Given the description of an element on the screen output the (x, y) to click on. 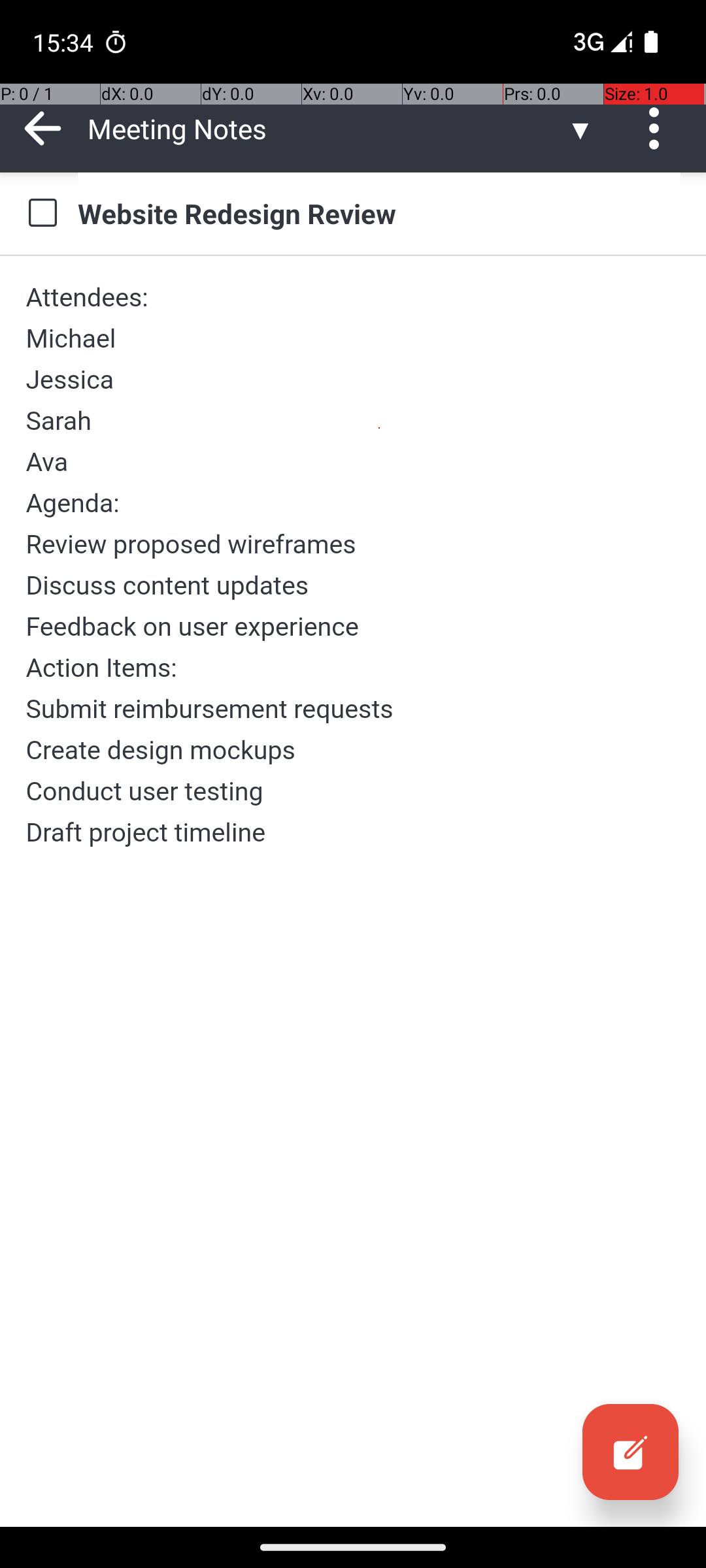
Website Redesign Review Element type: android.widget.EditText (378, 213)
Attendees:
Michael
Jessica
Sarah
Ava
Agenda:
Review proposed wireframes
Discuss content updates
Feedback on user experience
Action Items:
Submit reimbursement requests
Create design mockups
Conduct user testing
Draft project timeline Element type: android.widget.TextView (352, 564)
